Given the description of an element on the screen output the (x, y) to click on. 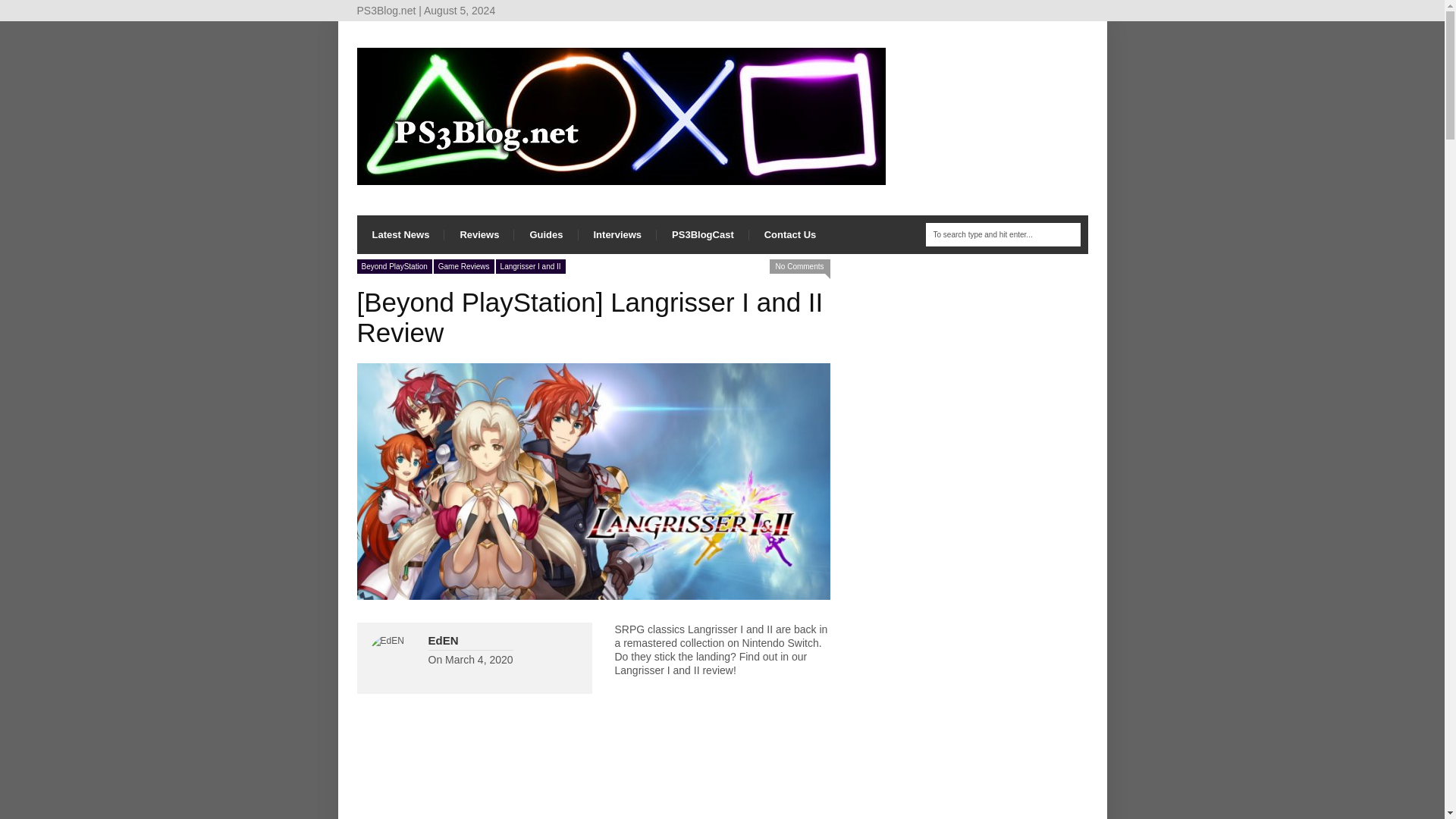
EdEN (443, 640)
Guides (545, 234)
Reviews (478, 234)
PS3BlogCast (702, 234)
Latest News (400, 234)
Langrisser I and II (531, 266)
No Comments (799, 266)
Contact Us (790, 234)
Beyond PlayStation (393, 266)
Game Reviews (464, 266)
Interviews (617, 234)
Posts by EdEN (443, 640)
To search type and hit enter... (1002, 234)
